Given the description of an element on the screen output the (x, y) to click on. 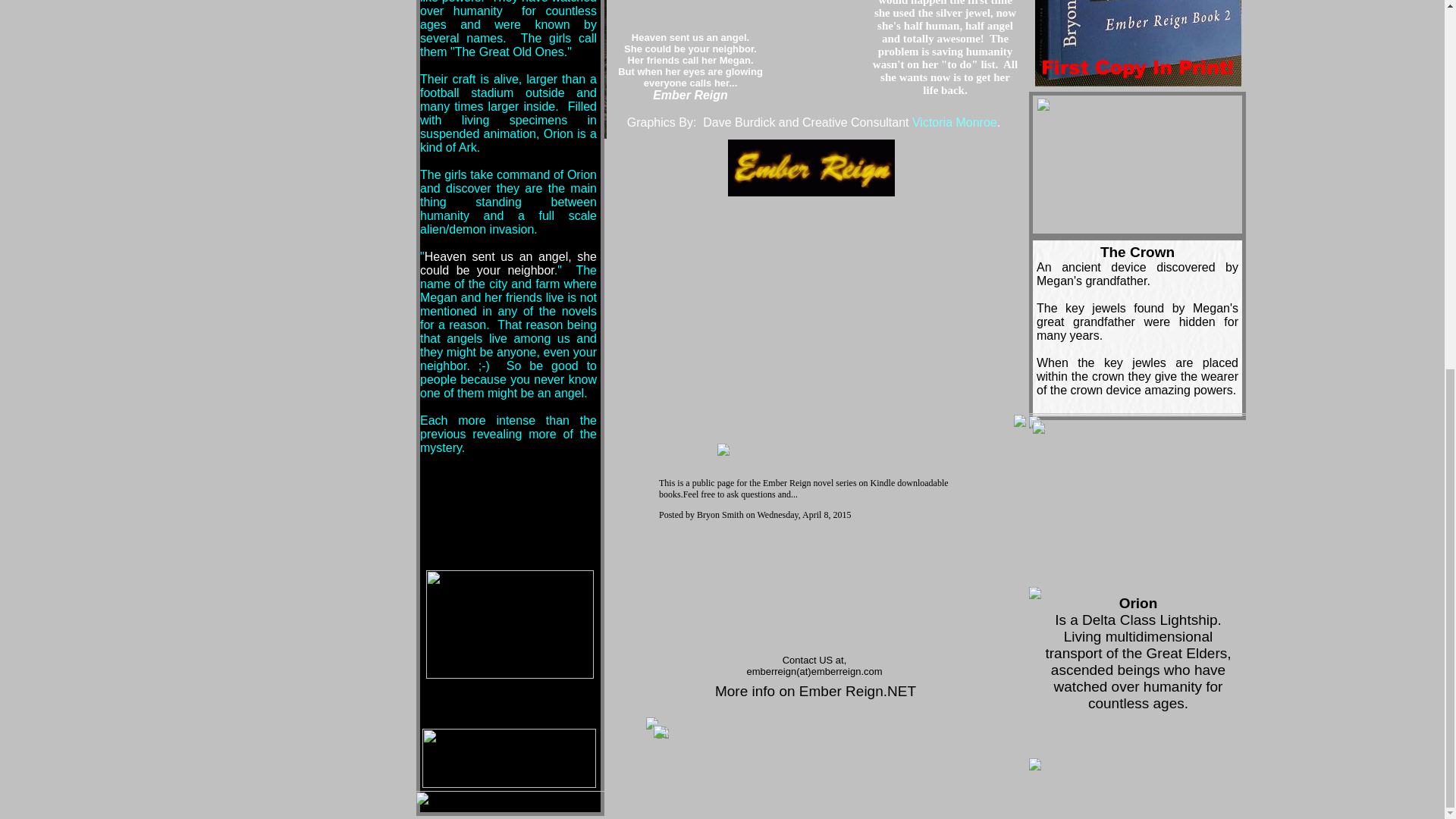
More info on Ember Reign.NET (814, 691)
Wednesday, April 8, 2015 (803, 514)
Victoria Monroe (954, 122)
Read previous and learn more about Ember  Reign. (814, 691)
Bryon Smith (720, 514)
